Given the description of an element on the screen output the (x, y) to click on. 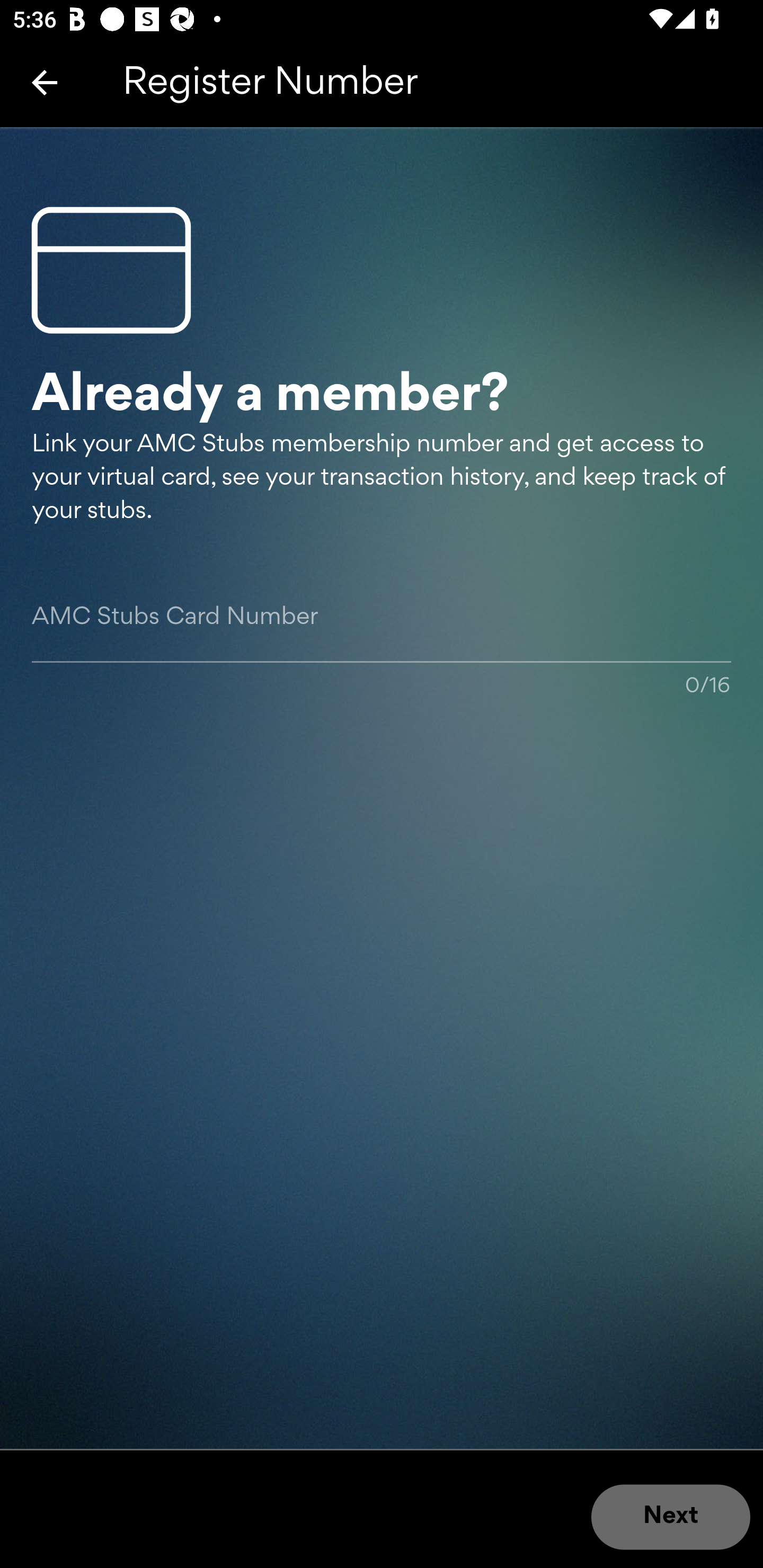
Back (44, 82)
16 characters remaining (381, 636)
